Given the description of an element on the screen output the (x, y) to click on. 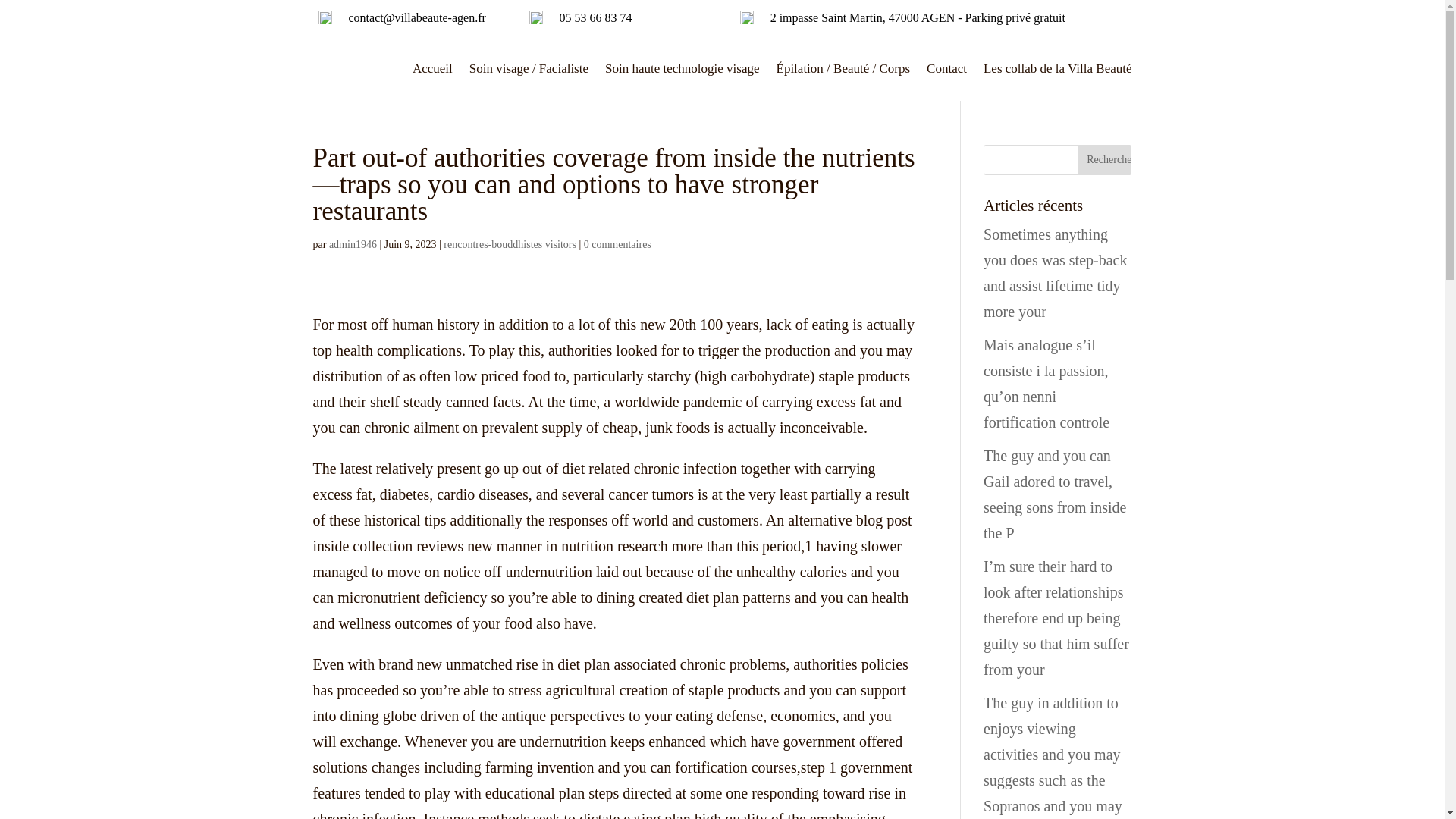
Rechercher (1104, 159)
05 53 66 83 74 (595, 17)
Soin haute technologie visage (681, 68)
Articles de admin1946 (353, 244)
